Given the description of an element on the screen output the (x, y) to click on. 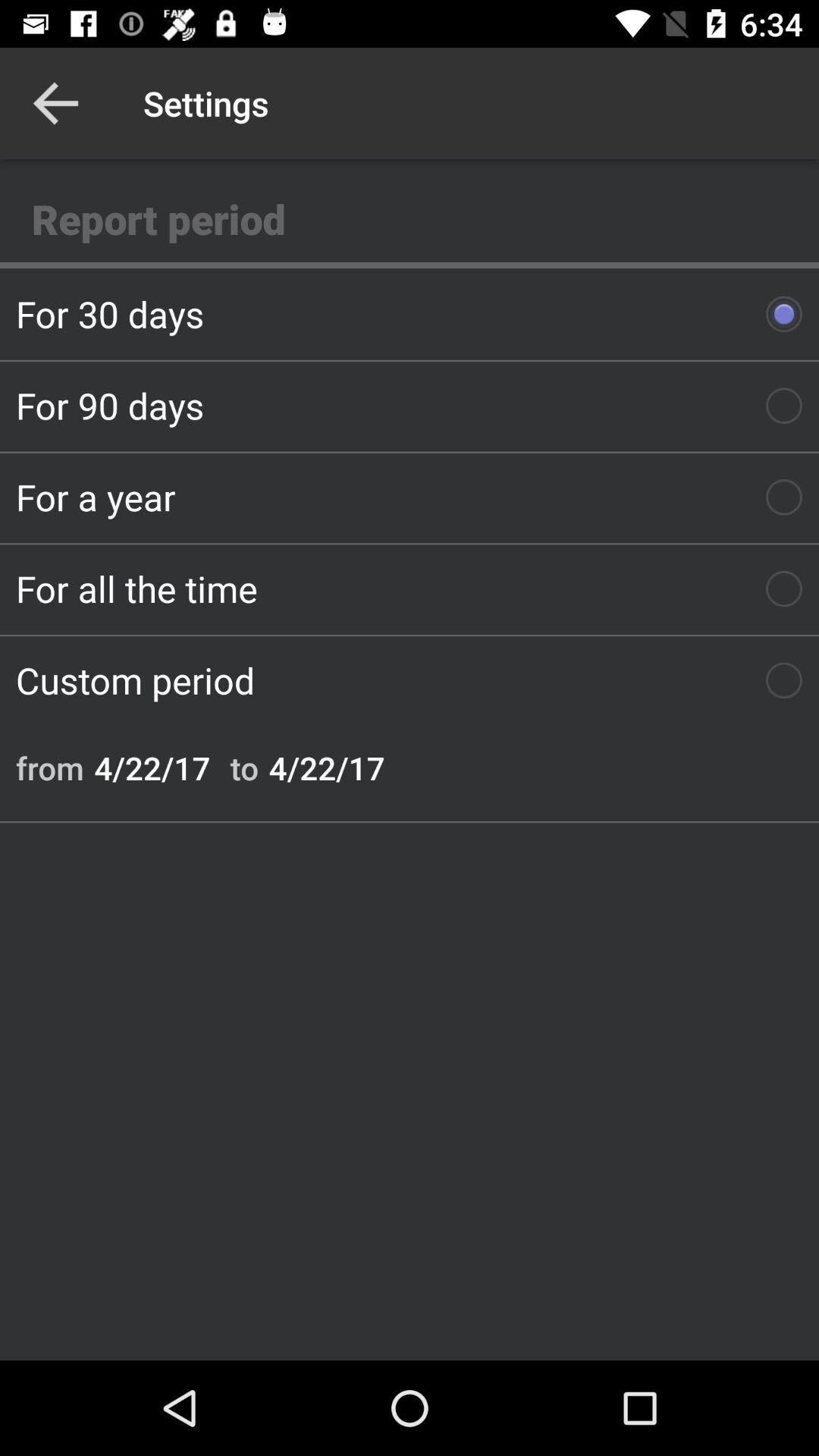
click for all the item (409, 588)
